Given the description of an element on the screen output the (x, y) to click on. 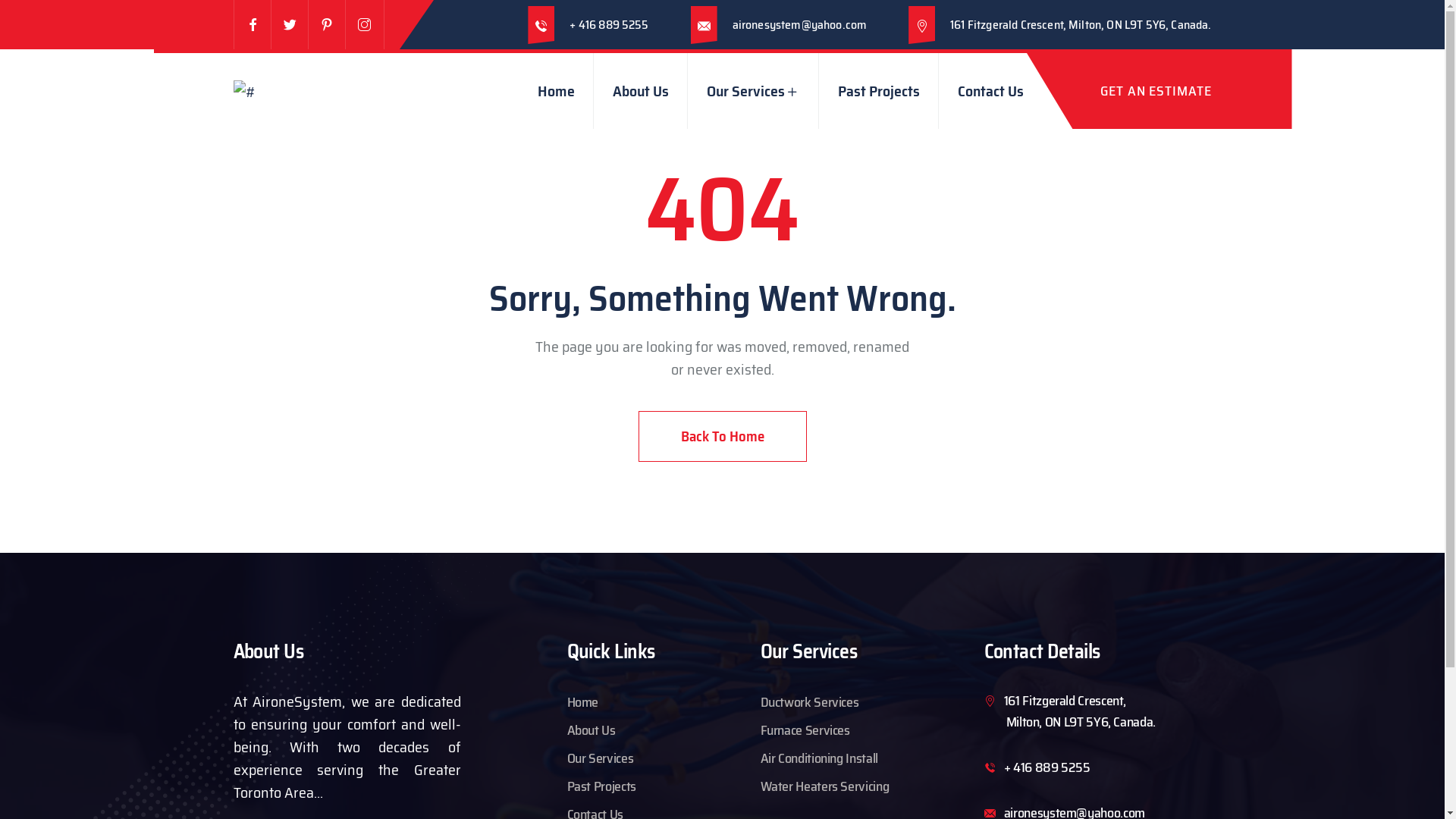
Past Projects Element type: text (601, 786)
Home Element type: text (555, 90)
+ 416 889 5255 Element type: text (608, 24)
About Us Element type: text (640, 90)
About Us Element type: text (591, 729)
Back To Home Element type: text (722, 436)
Water Heaters Servicing Element type: text (823, 786)
Our Services Element type: text (753, 90)
Past Projects Element type: text (878, 90)
Furnace Services Element type: text (804, 729)
Contact Us Element type: text (990, 90)
Air Conditioning Install Element type: text (818, 757)
Home Element type: text (583, 701)
aironesystem@yahoo.com Element type: text (799, 24)
Ductwork Services Element type: text (808, 701)
GET AN ESTIMATE Element type: text (1117, 90)
Our Services Element type: text (600, 757)
+ 416 889 5255 Element type: text (1047, 767)
